Given the description of an element on the screen output the (x, y) to click on. 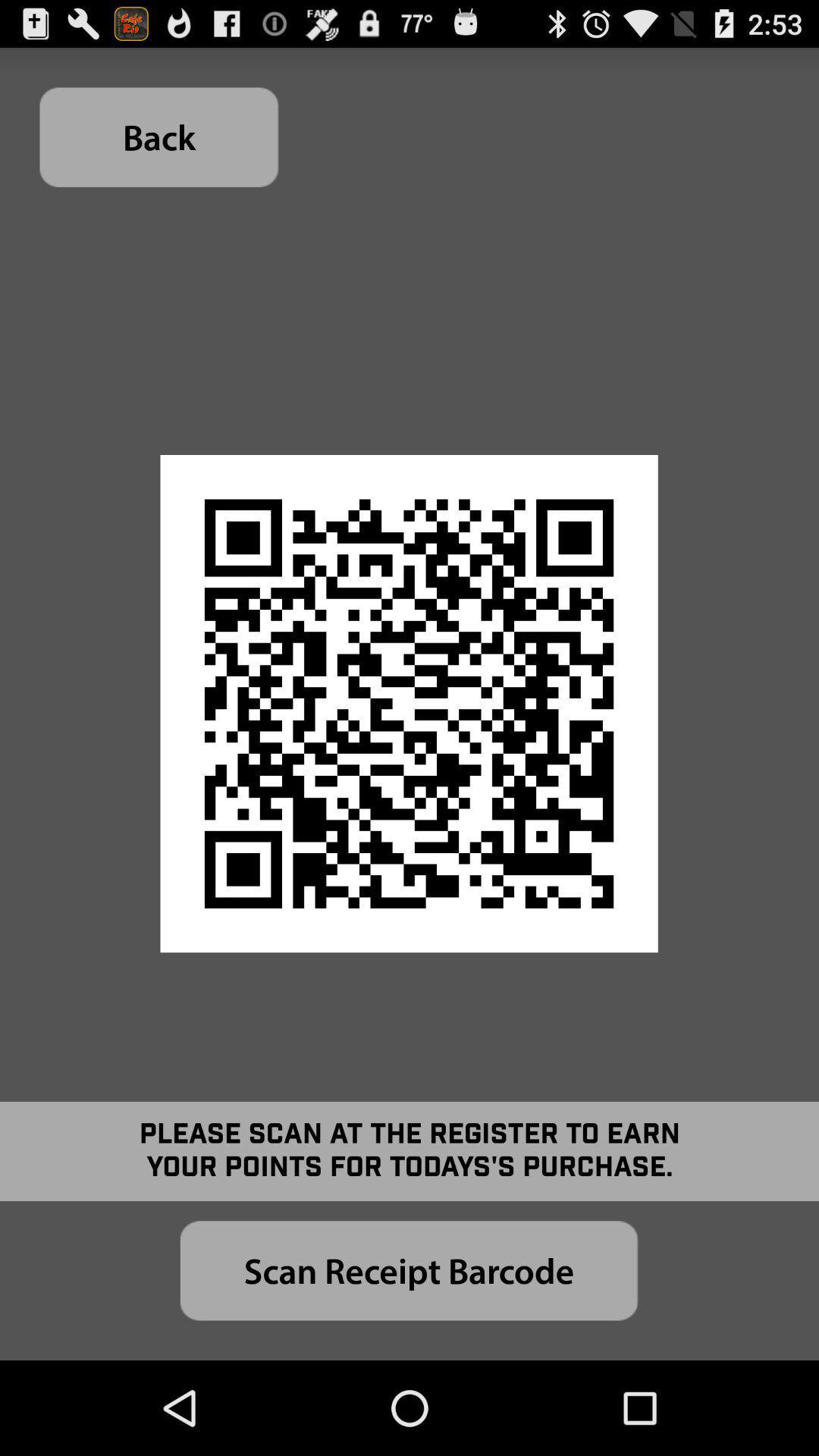
turn off scan receipt barcode icon (409, 1270)
